Given the description of an element on the screen output the (x, y) to click on. 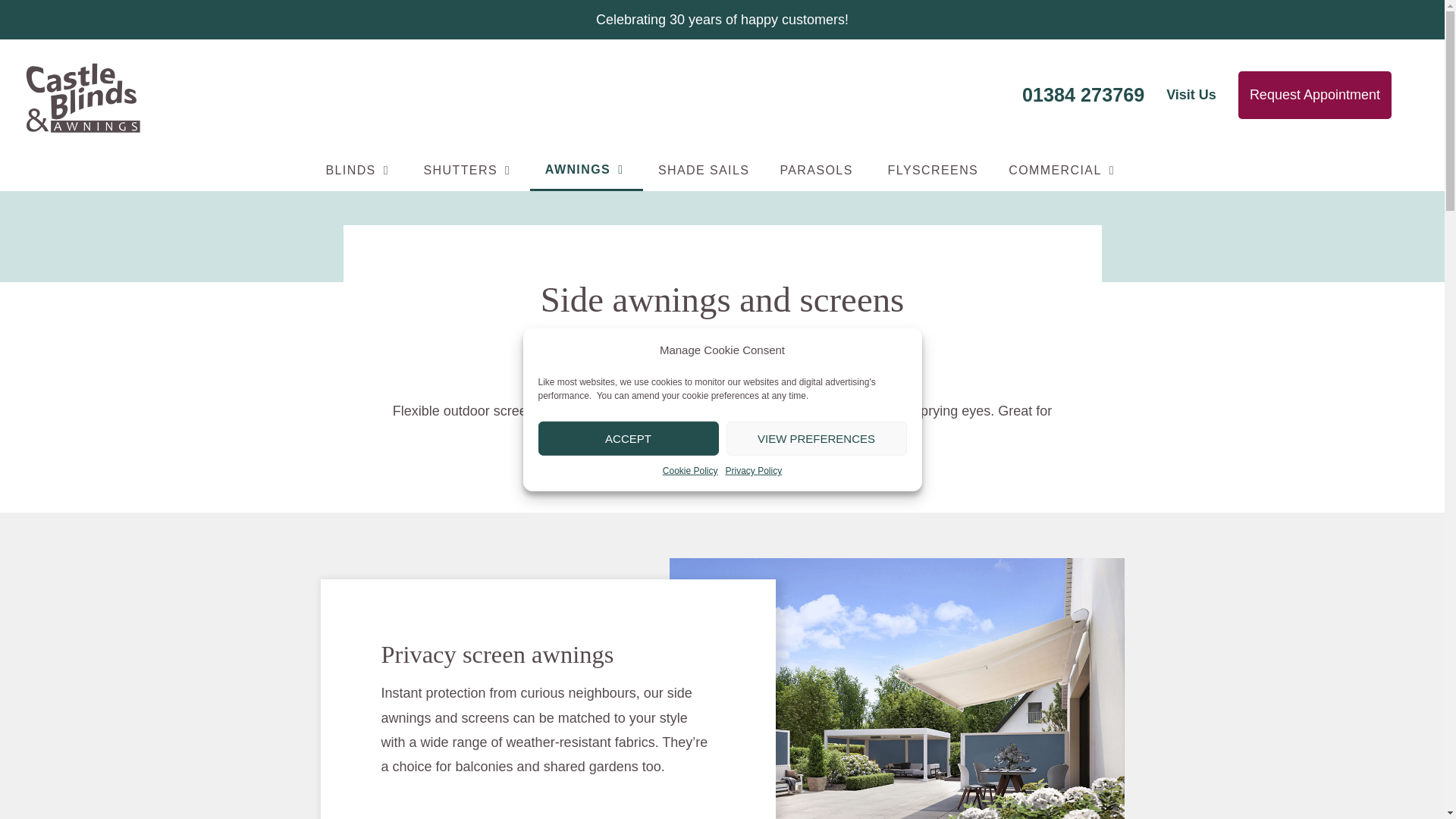
Privacy Policy (753, 471)
VIEW PREFERENCES (816, 438)
Cookie Policy (689, 471)
ACCEPT (628, 438)
01384 273769 (1083, 94)
Visit Us (1190, 95)
Request Appointment (1315, 94)
